Given the description of an element on the screen output the (x, y) to click on. 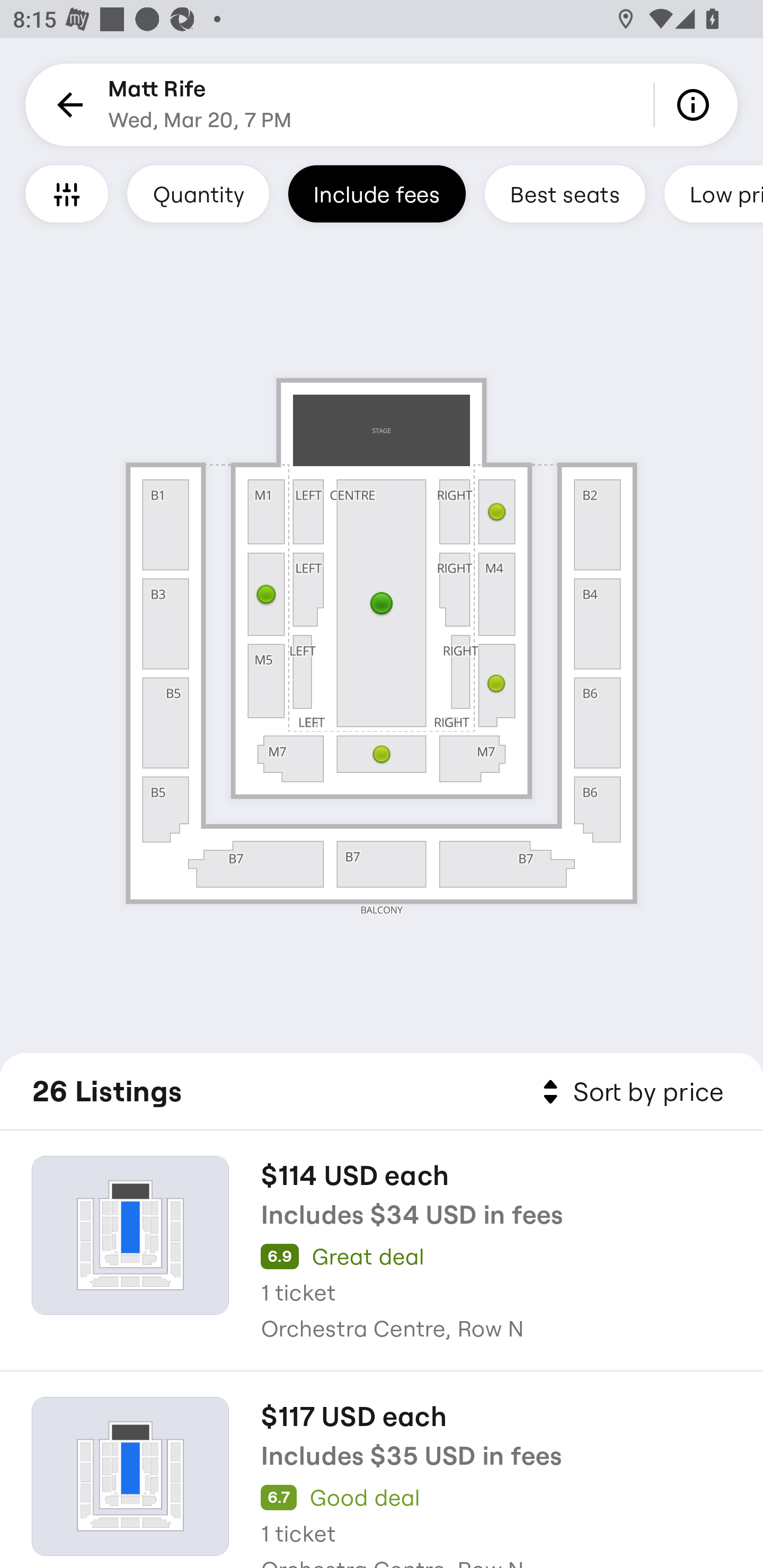
Back (66, 104)
Matt Rife Wed, Mar 20, 7 PM (200, 104)
Info (695, 104)
Filters and Accessible Seating (66, 193)
Quantity (198, 193)
Include fees (376, 193)
Best seats (564, 193)
Low prices (713, 193)
Sort by price (629, 1091)
